Given the description of an element on the screen output the (x, y) to click on. 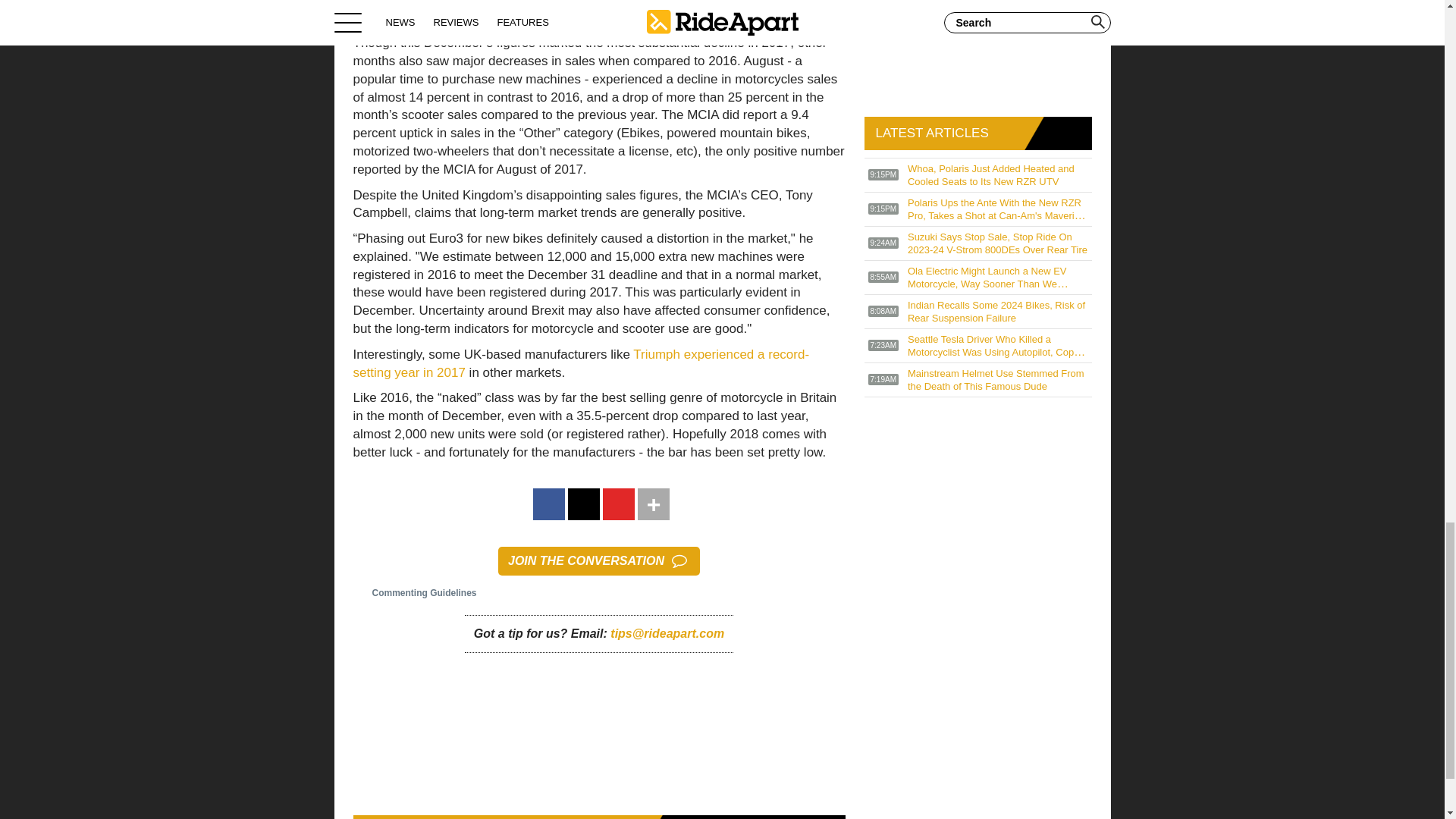
Triumph experienced a record-setting year in 2017 (581, 363)
Commenting Guidelines (415, 593)
JOIN THE CONVERSATION (598, 561)
